Given the description of an element on the screen output the (x, y) to click on. 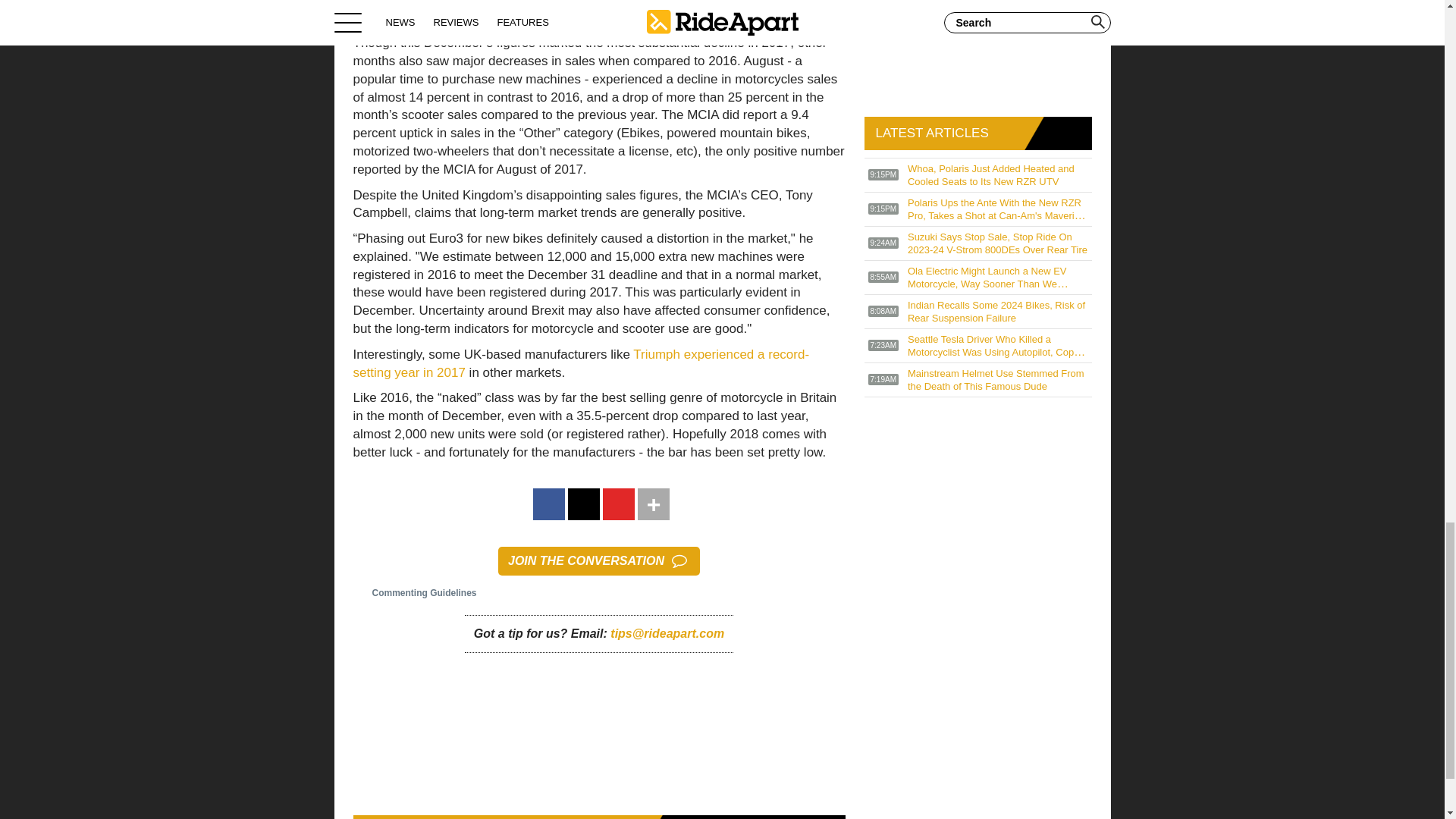
Triumph experienced a record-setting year in 2017 (581, 363)
Commenting Guidelines (415, 593)
JOIN THE CONVERSATION (598, 561)
